Given the description of an element on the screen output the (x, y) to click on. 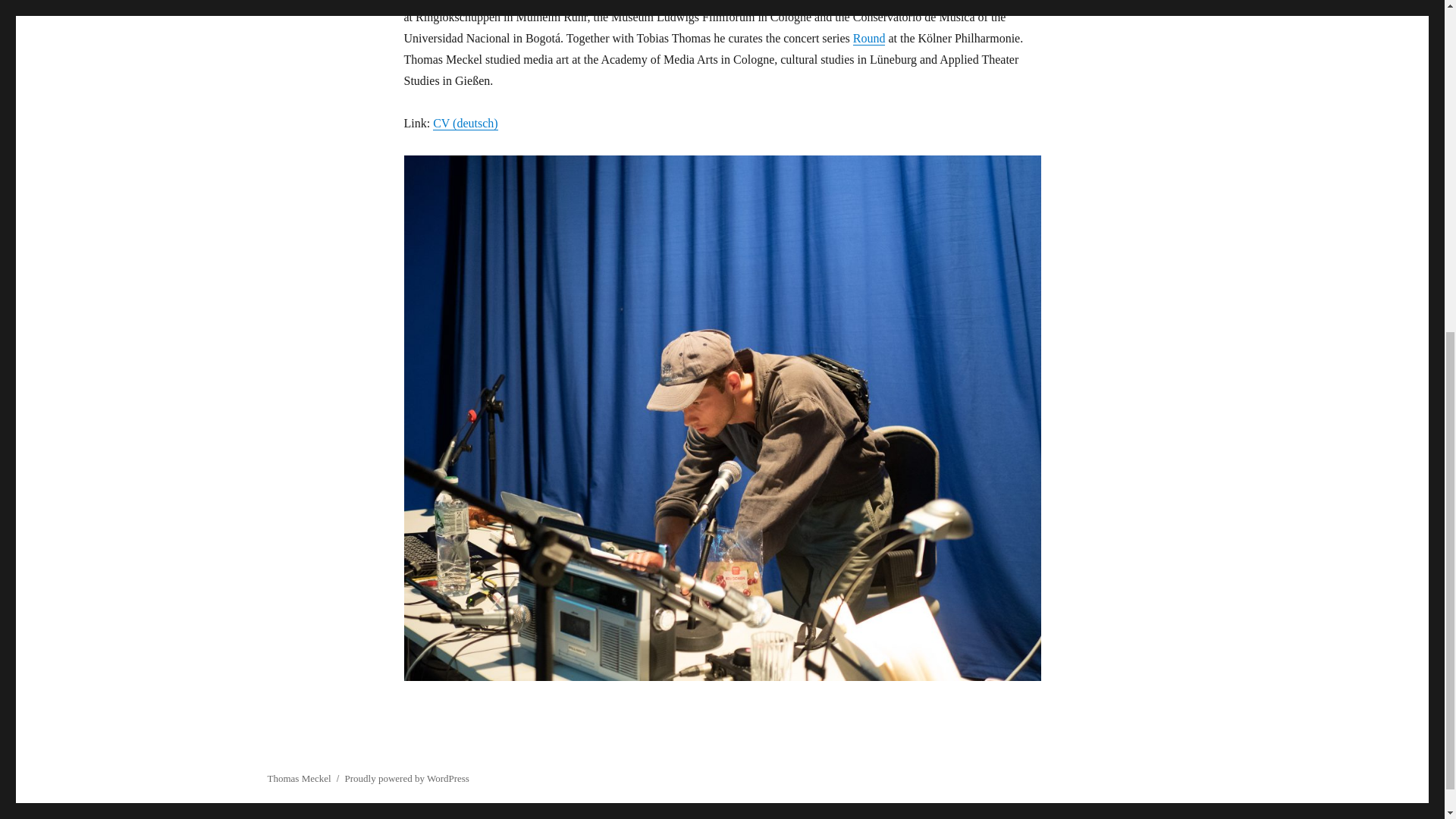
Proudly powered by WordPress (405, 778)
Solaris (545, 1)
Se Cure (860, 1)
Thomas Meckel (298, 778)
Round (869, 38)
